Given the description of an element on the screen output the (x, y) to click on. 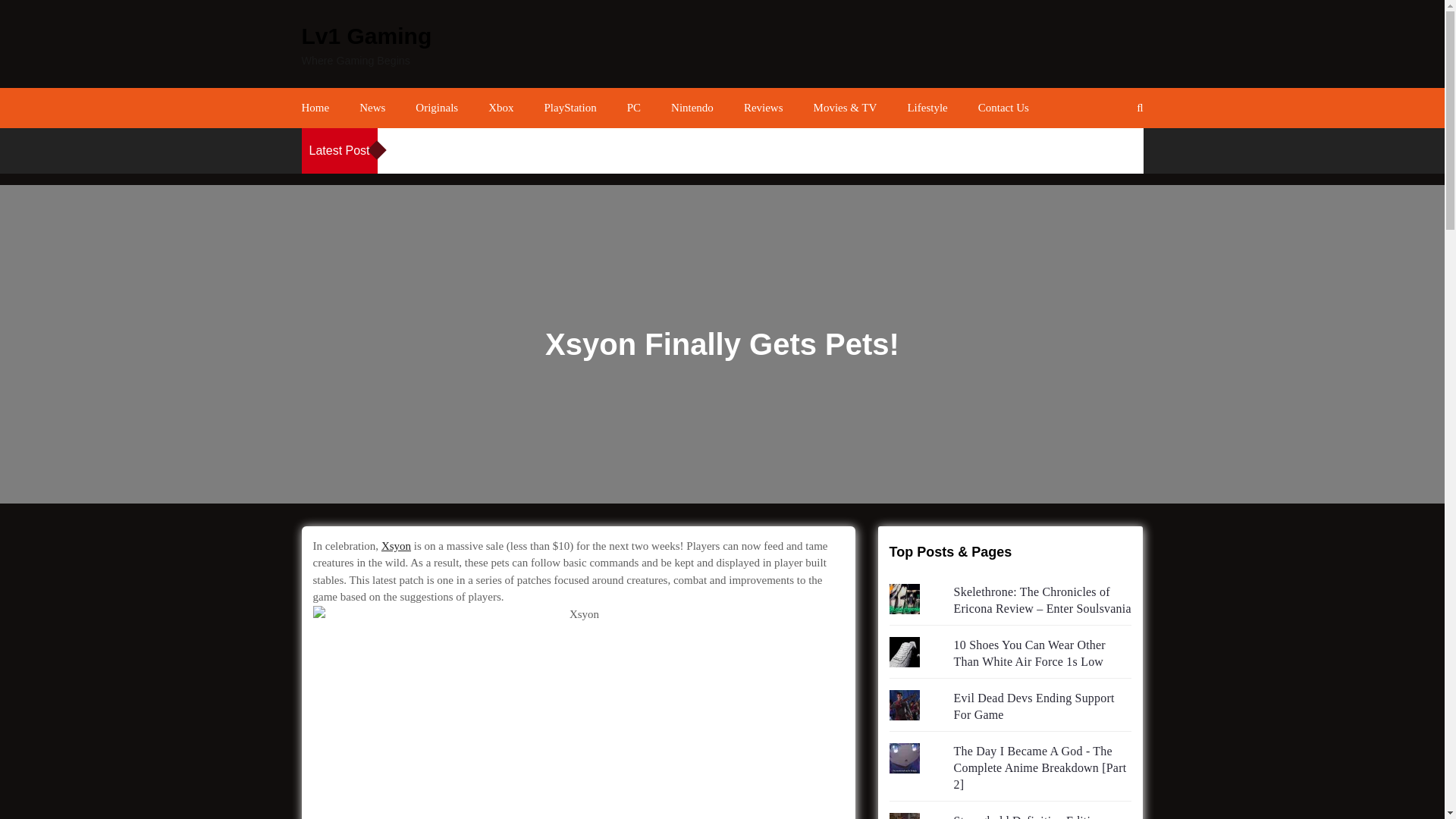
PlayStation (570, 107)
News (372, 107)
Home (315, 107)
Xsyon (395, 545)
Xbox (500, 107)
PC (633, 107)
Modern Warfare 3 Finally Lands On Game Pass (853, 151)
Reviews (763, 107)
The New Era of FNAF Begins! (1046, 151)
Contact Us (1003, 107)
